Given the description of an element on the screen output the (x, y) to click on. 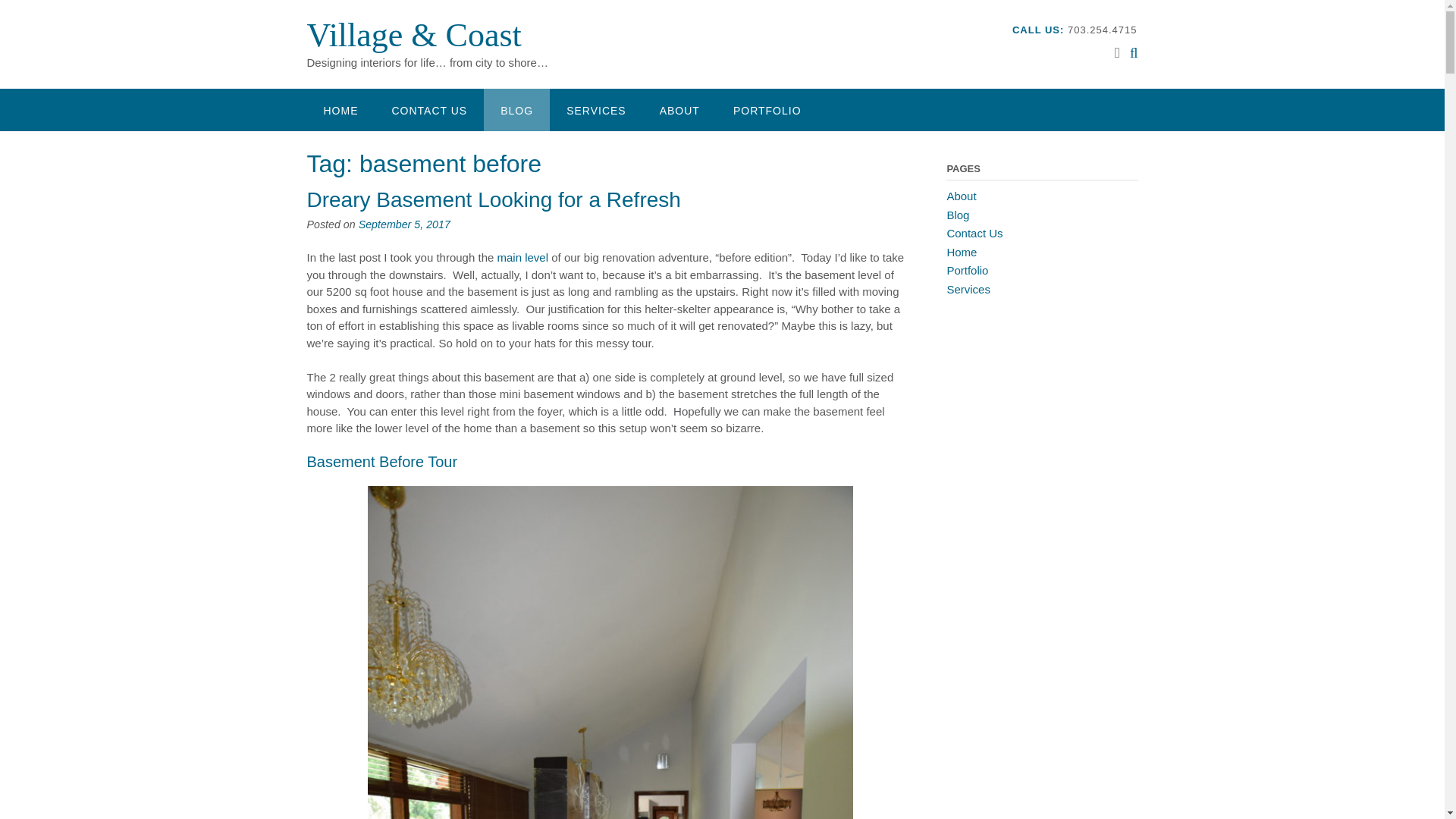
Dreary Basement Looking for a Refresh (492, 199)
ABOUT (679, 109)
HOME (339, 109)
BLOG (516, 109)
September 5, 2017 (403, 224)
Portfolio (967, 269)
Blog (957, 214)
About (960, 195)
Services (968, 287)
SERVICES (596, 109)
Contact Us (974, 232)
CONTACT US (428, 109)
PORTFOLIO (767, 109)
Home (961, 251)
main level (522, 256)
